Given the description of an element on the screen output the (x, y) to click on. 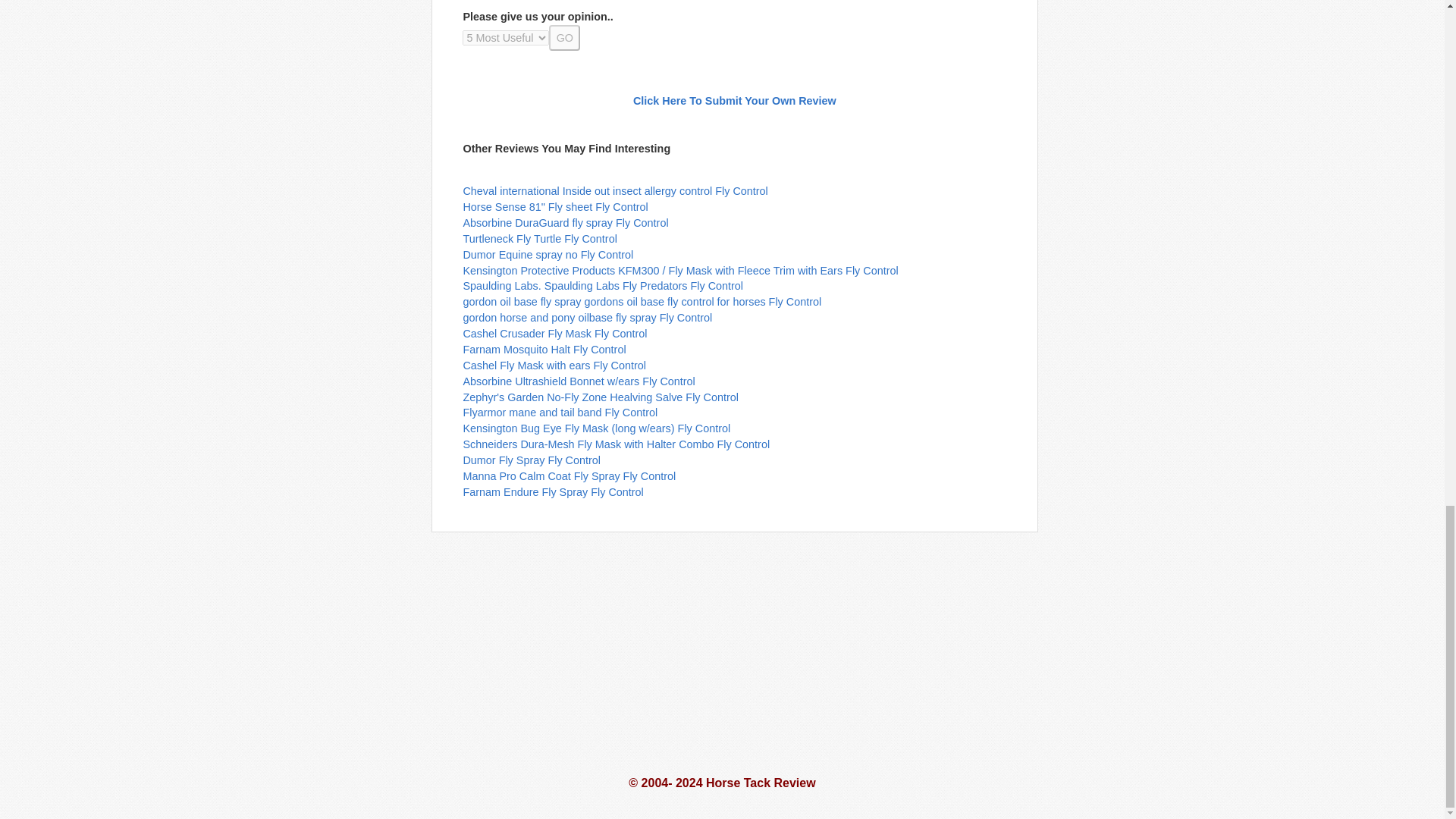
GO (563, 37)
